Given the description of an element on the screen output the (x, y) to click on. 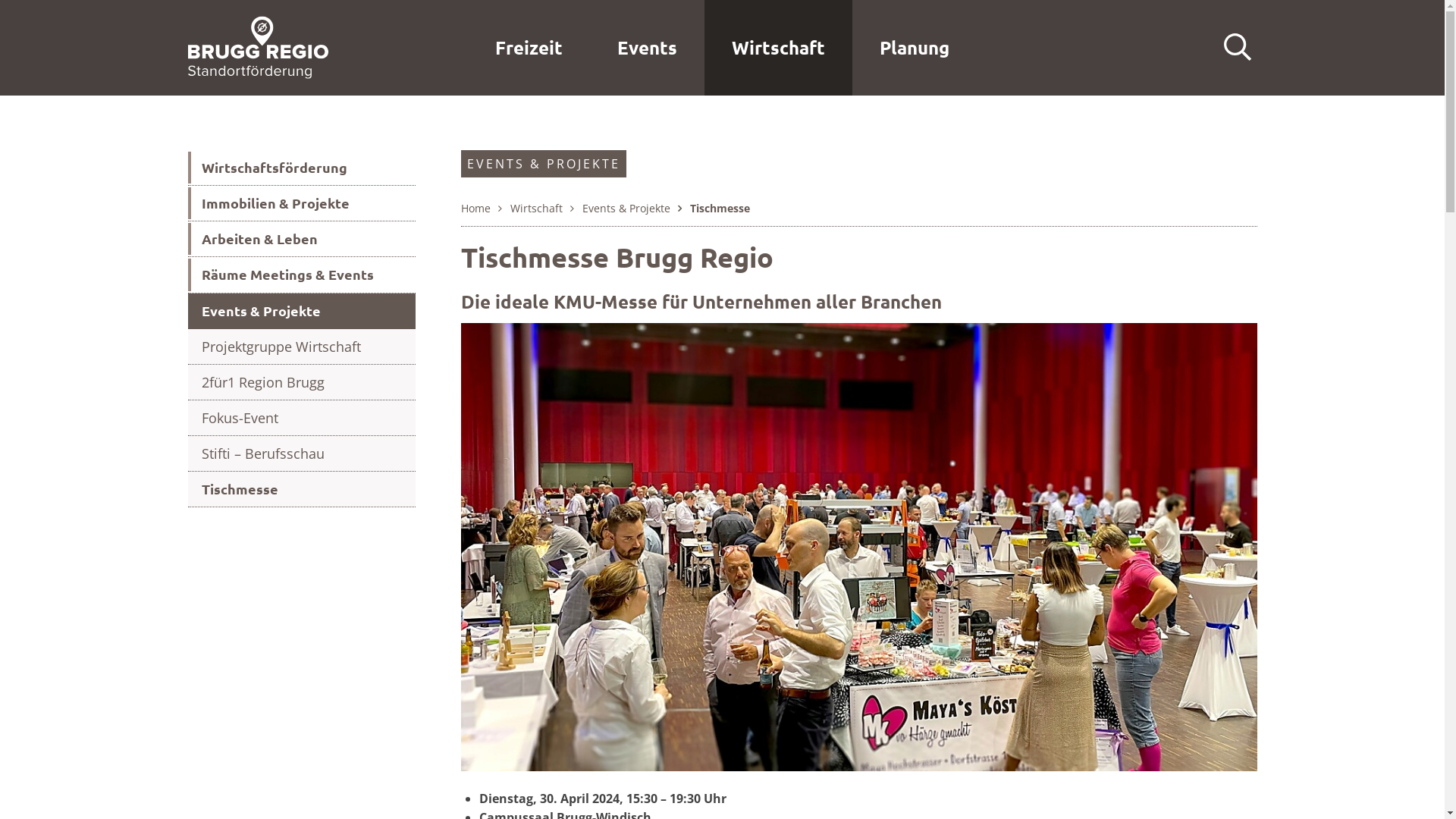
Events Element type: text (646, 47)
Projektgruppe Wirtschaft Element type: text (301, 346)
Homepage Element type: hover (258, 45)
Events & Projekte Element type: text (301, 310)
Wirtschaft Element type: text (778, 47)
Tischmesse Element type: text (301, 489)
Freizeit Element type: text (528, 47)
Wirtschaft Element type: text (535, 207)
Immobilien & Projekte Element type: text (301, 203)
Fokus-Event Element type: text (301, 418)
Events & Projekte Element type: text (626, 207)
Planung Element type: text (914, 47)
Arbeiten & Leben Element type: text (301, 239)
Suche Element type: text (1237, 47)
Home Element type: text (475, 207)
